Given the description of an element on the screen output the (x, y) to click on. 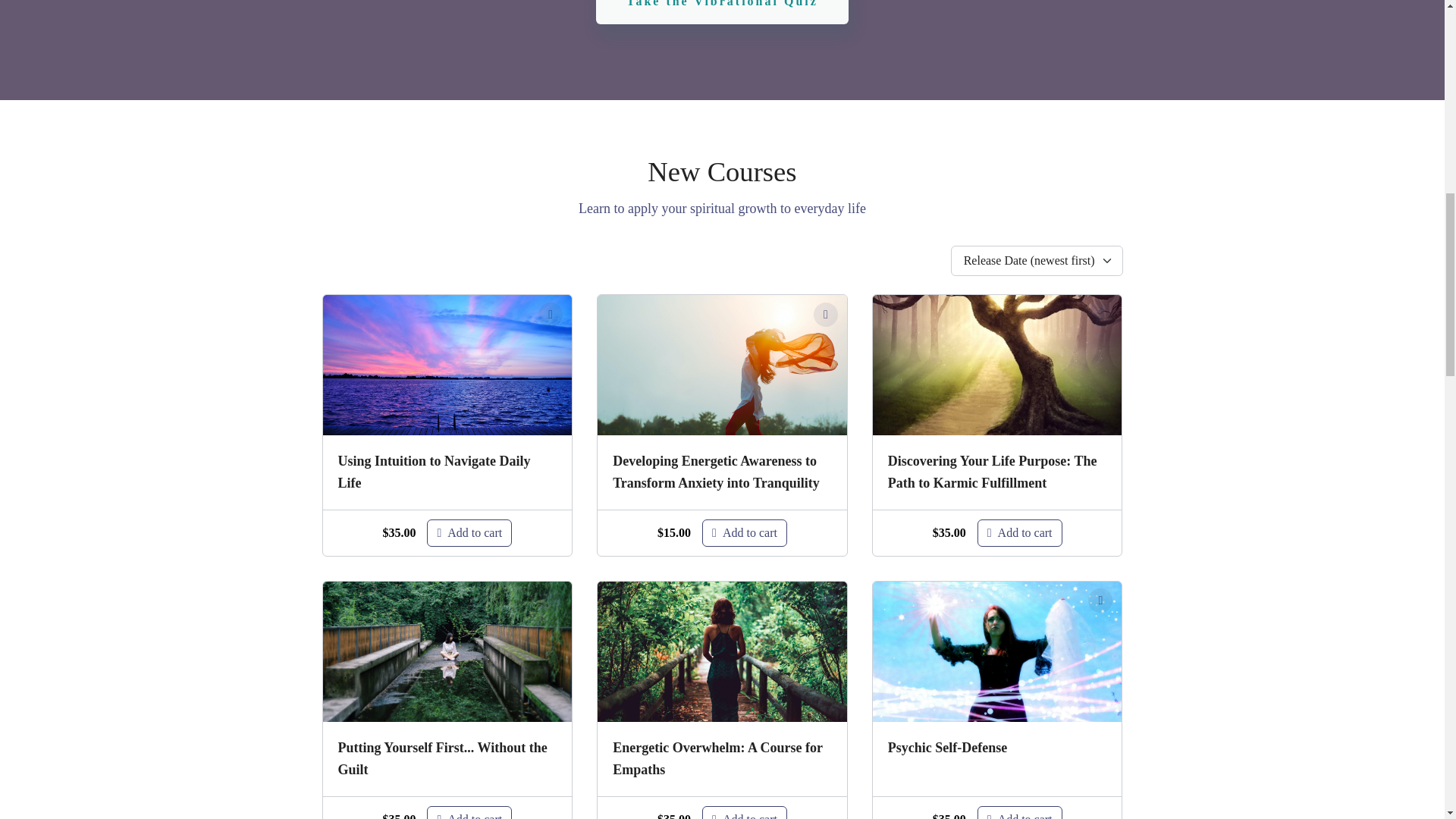
Using Intuition to Navigate Daily Life (447, 472)
Energetic Overwhelm: A Course for Empaths (721, 759)
Psychic Self-Defense (997, 748)
Putting Yourself First... Without the Guilt (447, 759)
